Given the description of an element on the screen output the (x, y) to click on. 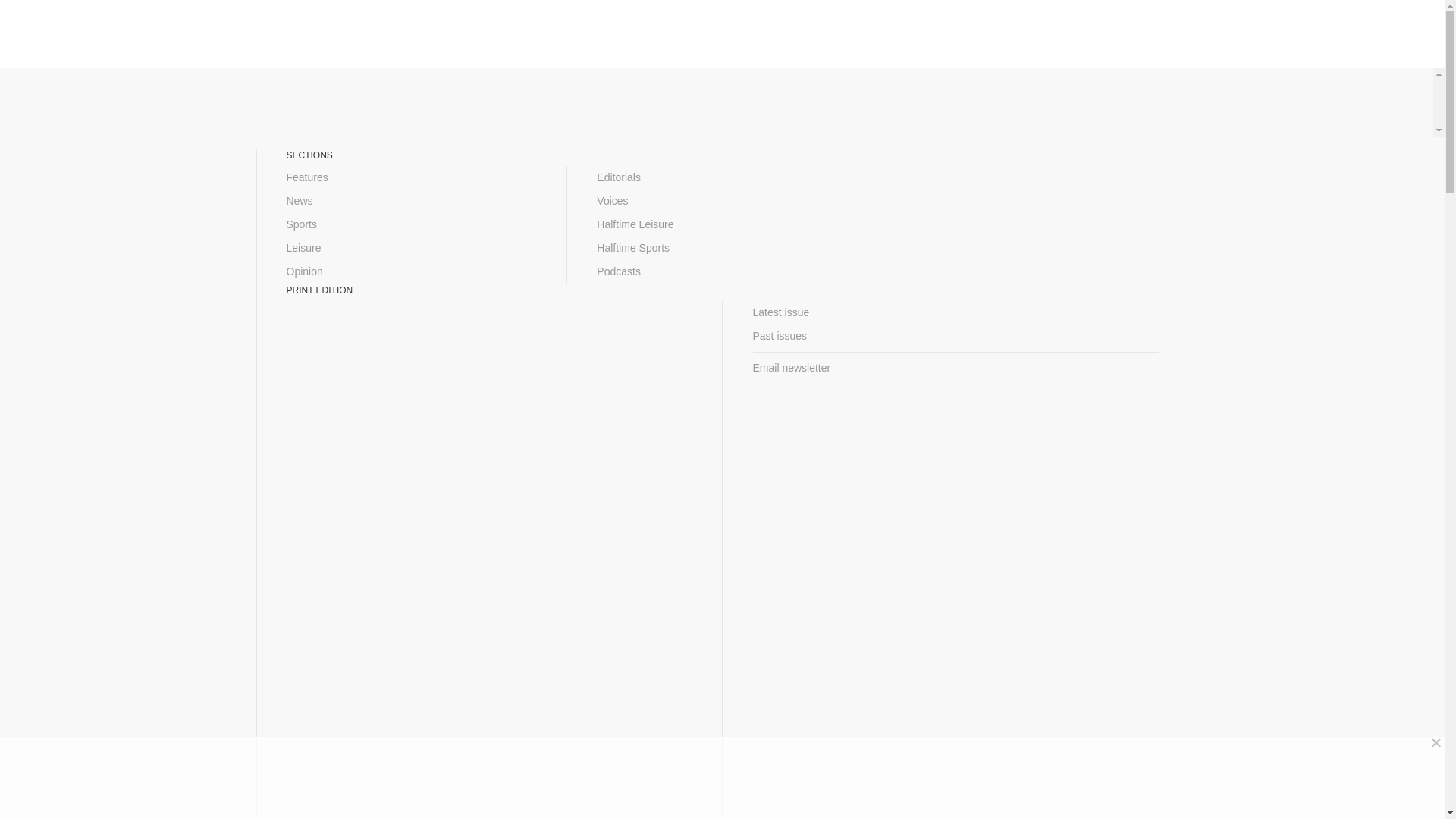
Voices (721, 200)
Halftime Leisure (721, 224)
Posts by Jake Gilstrap (474, 310)
Latest issue (954, 312)
Halftime Sports (721, 248)
Sports (411, 224)
Past issues (954, 336)
Leisure (411, 248)
Opinion (411, 271)
Podcasts (721, 271)
